Given the description of an element on the screen output the (x, y) to click on. 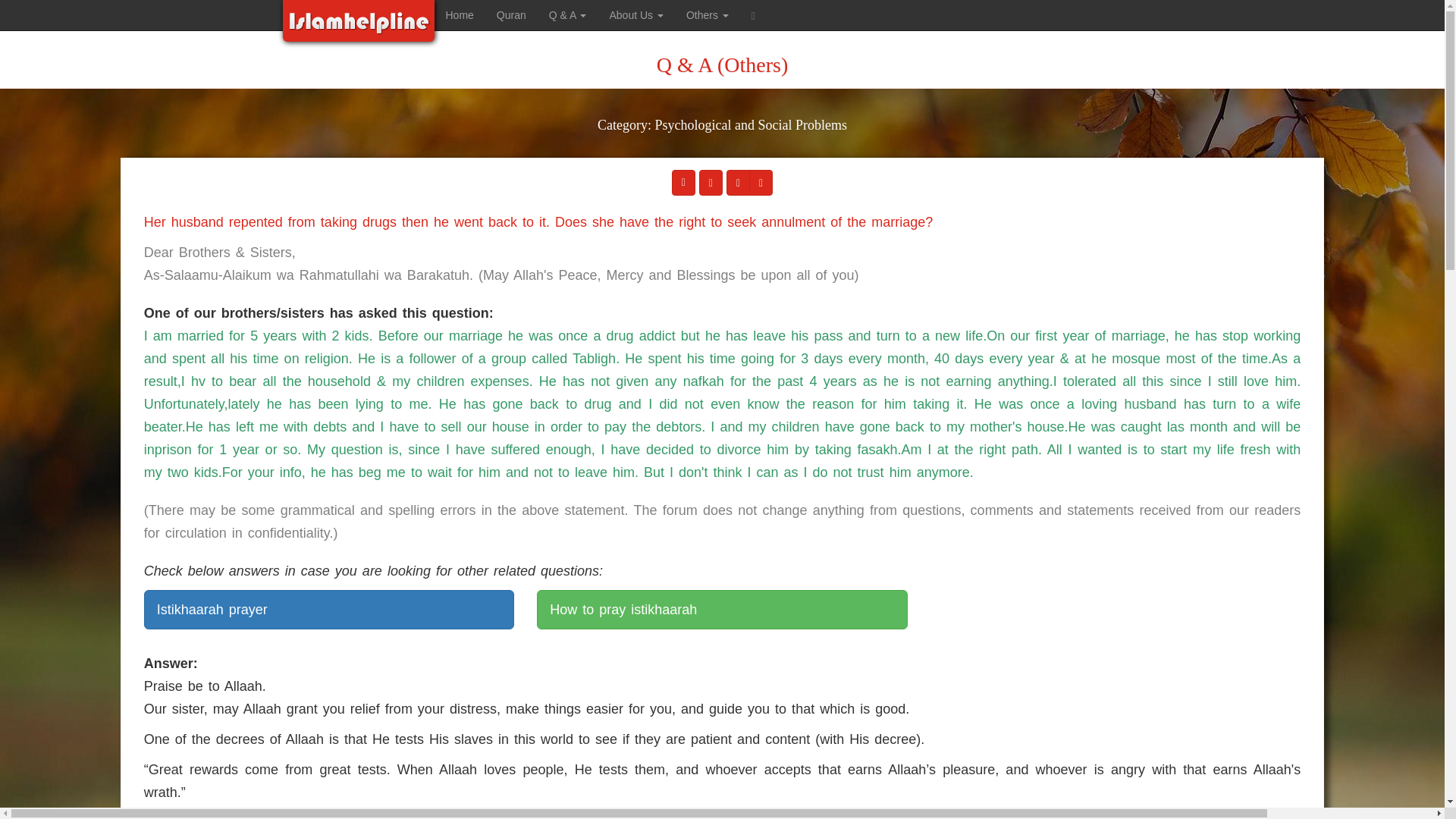
Home (458, 15)
Quran (510, 15)
Istikhaarah prayer (328, 609)
Others (707, 15)
About Us (635, 15)
How to pray istikhaarah (722, 609)
Category: Psychological and Social Problems (721, 134)
